Given the description of an element on the screen output the (x, y) to click on. 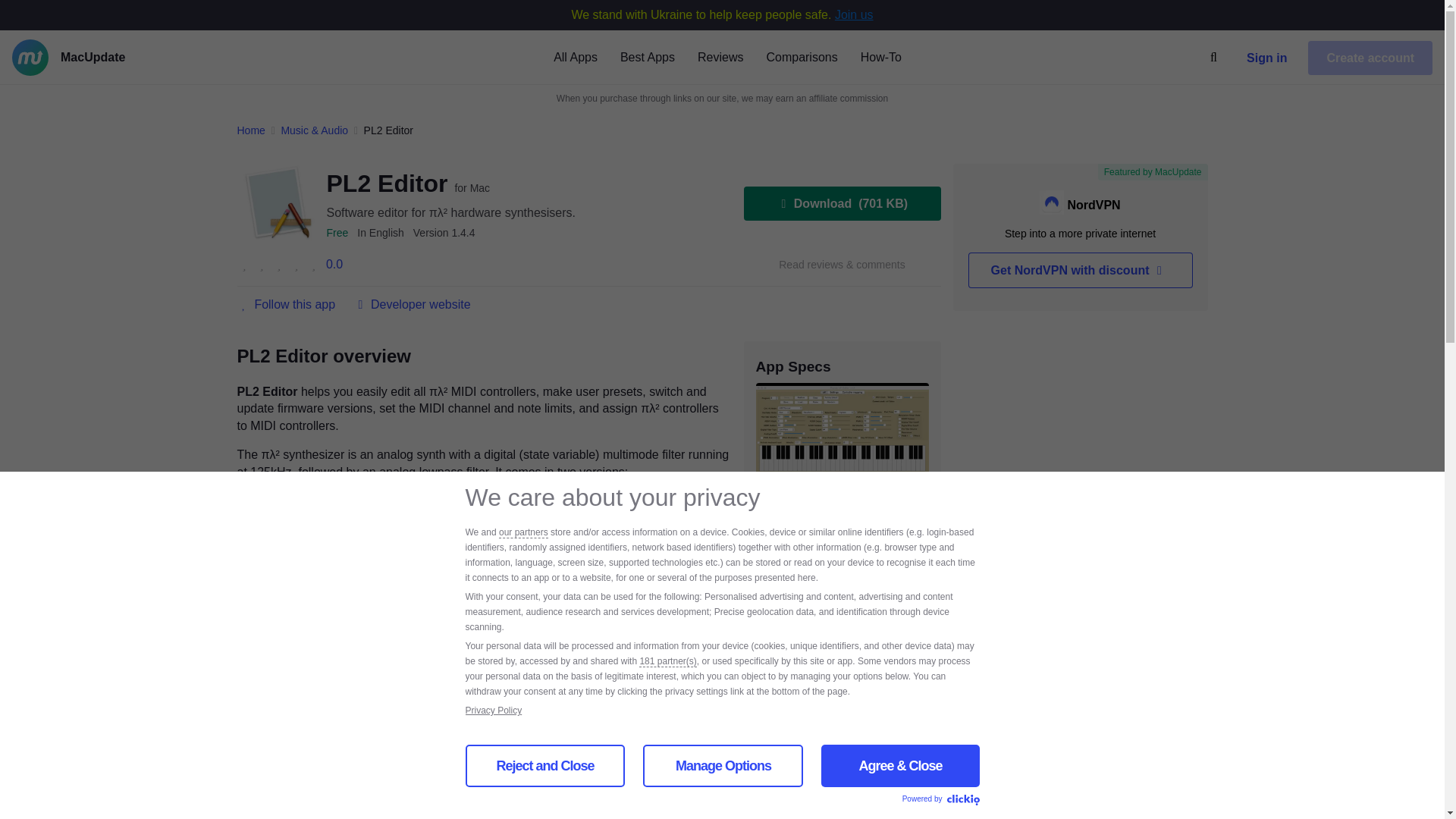
1.4.4 (444, 232)
MacUpdate (116, 57)
All Apps (574, 56)
Clickio (962, 800)
Join us (853, 14)
